Given the description of an element on the screen output the (x, y) to click on. 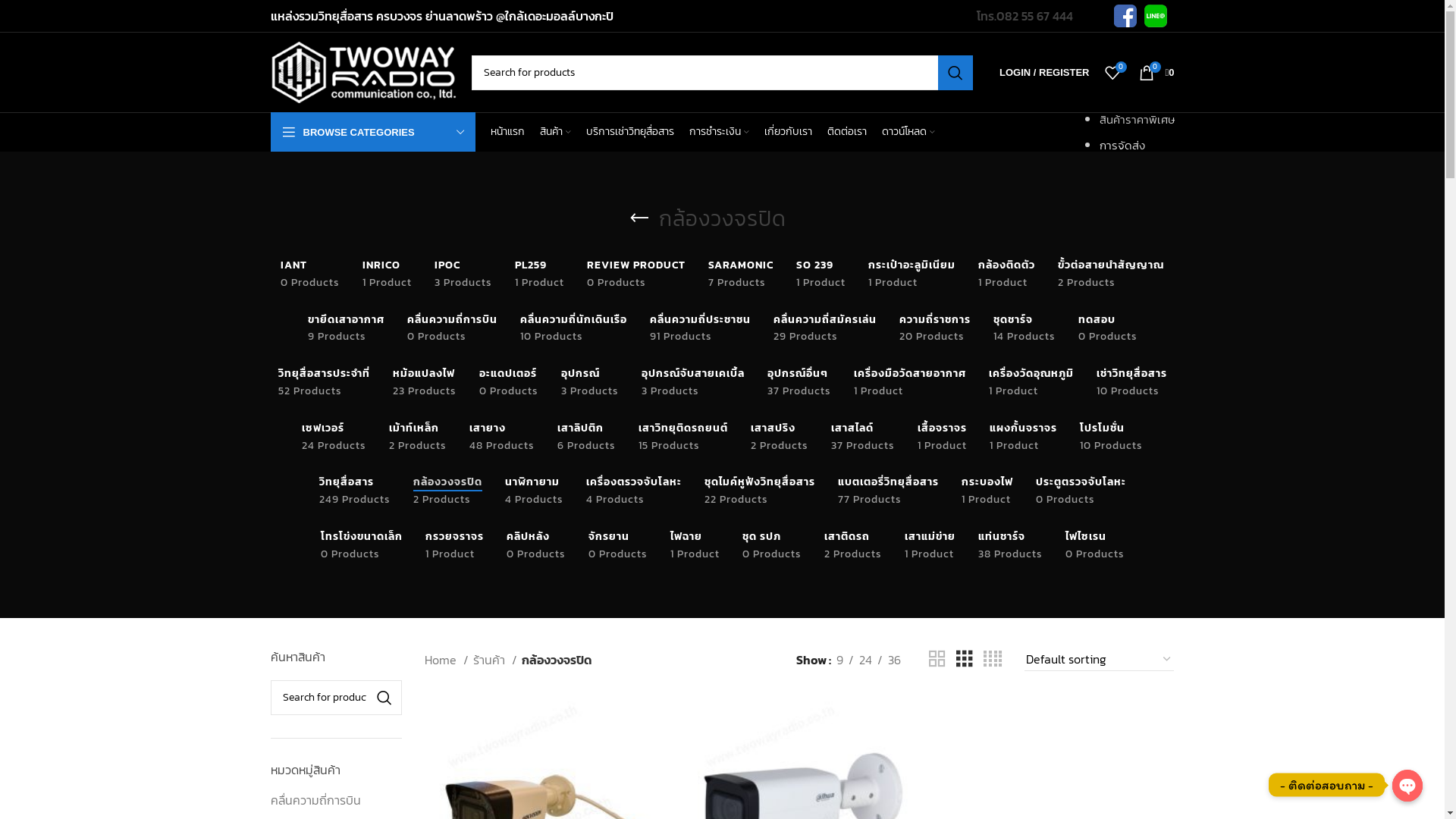
INRICO
1 Product Element type: text (386, 274)
REVIEW PRODUCT
0 Products Element type: text (635, 274)
logo Facebook4 Element type: hover (1124, 15)
SEARCH Element type: text (955, 71)
9 Element type: text (839, 659)
Search for products Element type: hover (335, 697)
PL259
1 Product Element type: text (539, 274)
0 Element type: text (1112, 72)
LOGIN / REGISTER Element type: text (1043, 72)
SEARCH Element type: text (384, 697)
Search for products Element type: hover (722, 71)
LINE@ 2wayram.com Element type: hover (1154, 15)
SARAMONIC
7 Products Element type: text (740, 274)
IPOC
3 Products Element type: text (463, 274)
SO 239
1 Product Element type: text (820, 274)
Home Element type: text (446, 659)
24 Element type: text (865, 659)
IANT
0 Products Element type: text (309, 274)
36 Element type: text (894, 659)
